Given the description of an element on the screen output the (x, y) to click on. 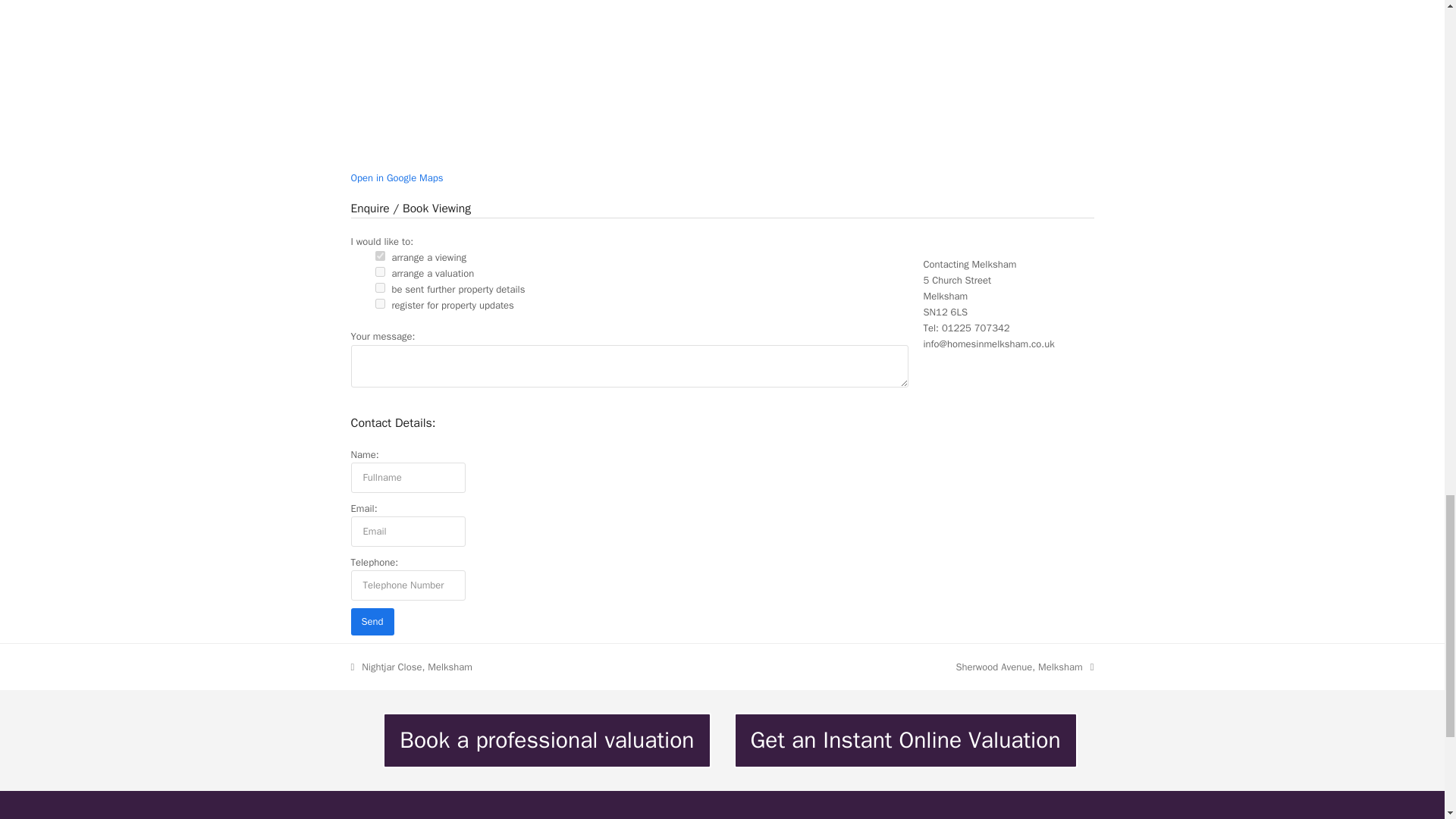
true (379, 287)
true (379, 271)
true (379, 255)
true (379, 303)
Send (371, 621)
